Given the description of an element on the screen output the (x, y) to click on. 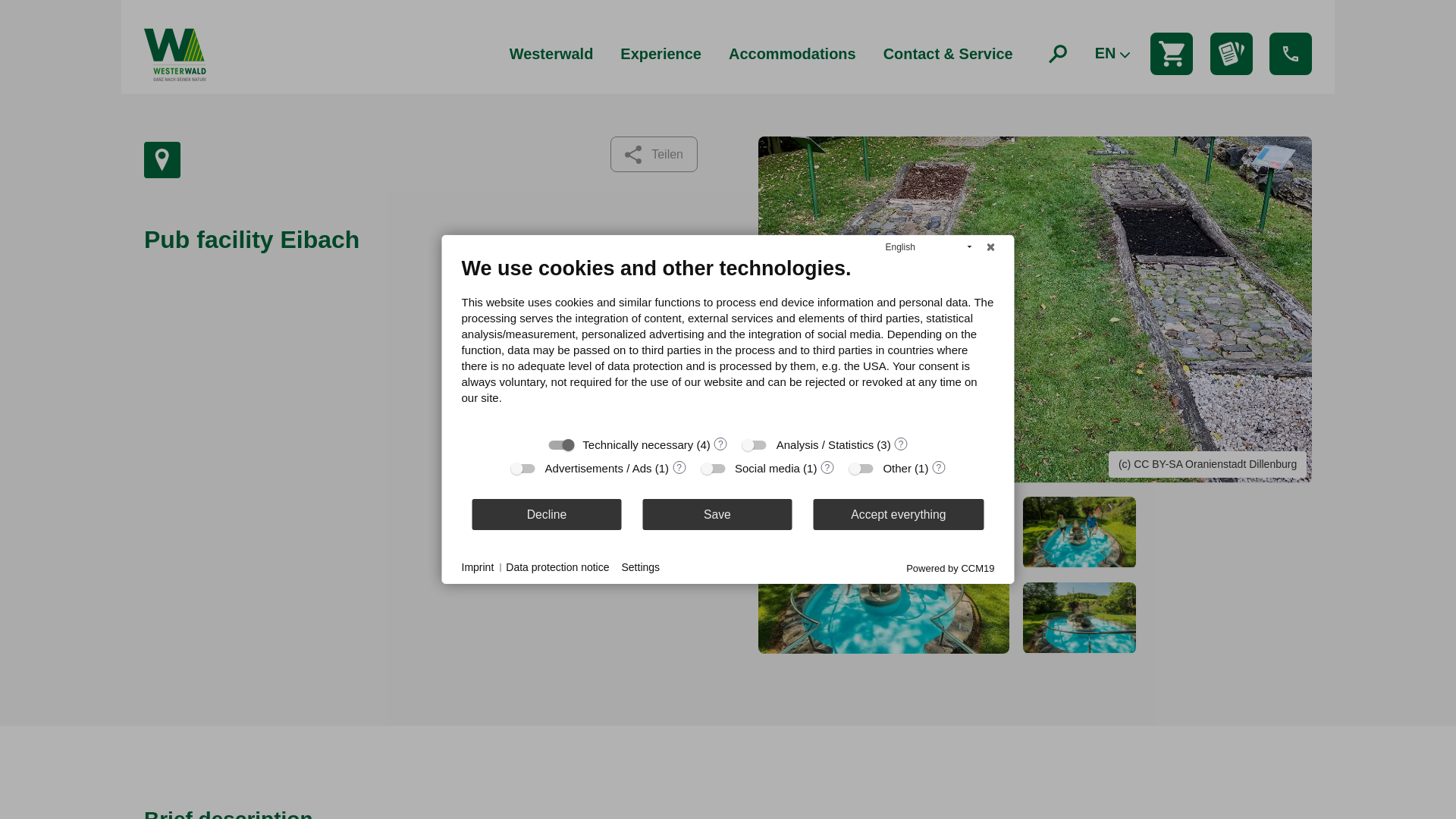
Westerwald (551, 53)
Accommodations (791, 53)
Experience (660, 53)
Westerwald (551, 53)
Experience (660, 53)
